Given the description of an element on the screen output the (x, y) to click on. 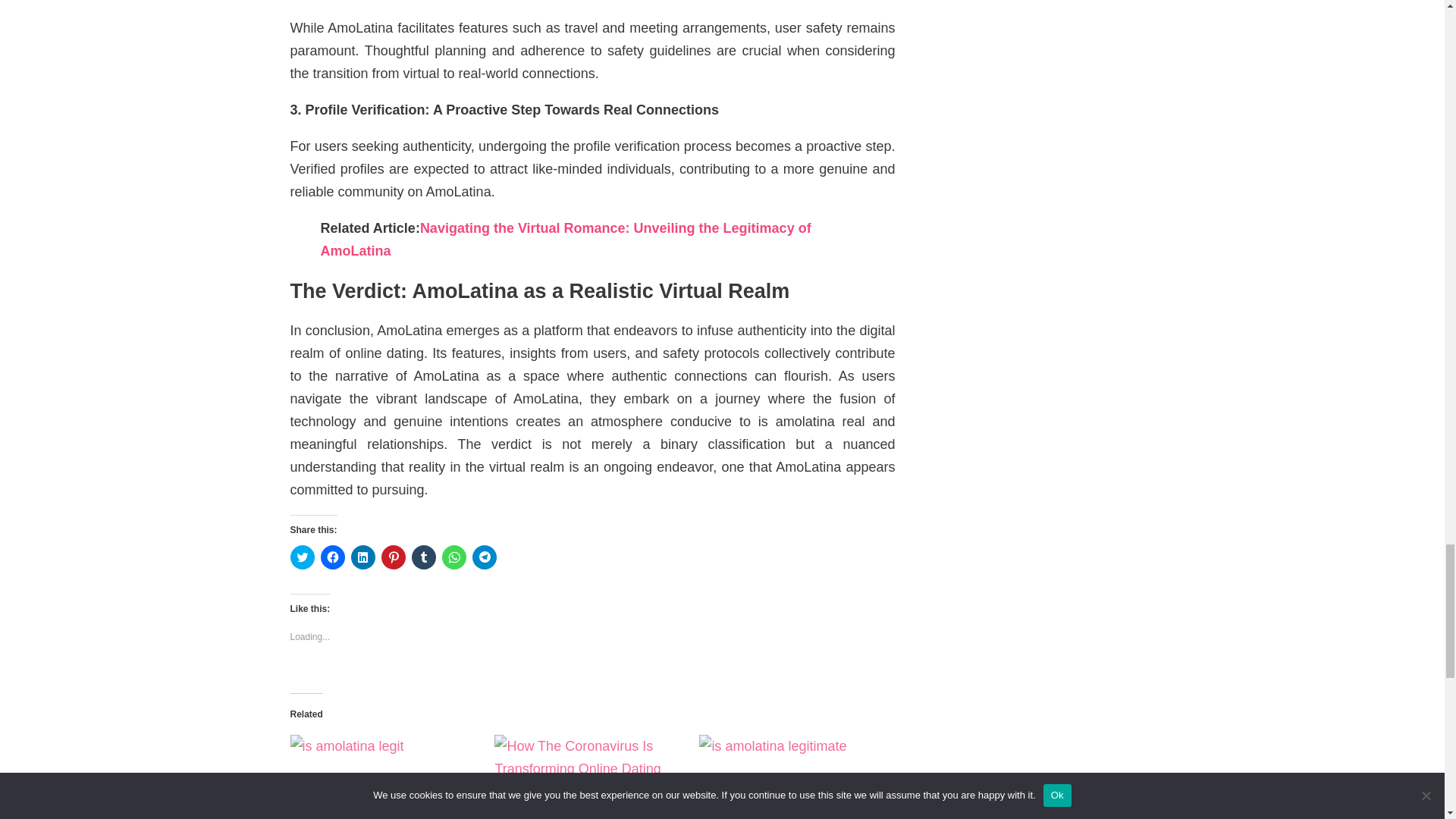
Click to share on Twitter (301, 557)
Click to share on WhatsApp (453, 557)
Click to share on Tumblr (422, 557)
Click to share on Telegram (483, 557)
Unveiling Legitimacy: Navigating the AmoLatina Experience (793, 776)
Click to share on Facebook (331, 557)
Click to share on Pinterest (392, 557)
Click to share on LinkedIn (362, 557)
